Given the description of an element on the screen output the (x, y) to click on. 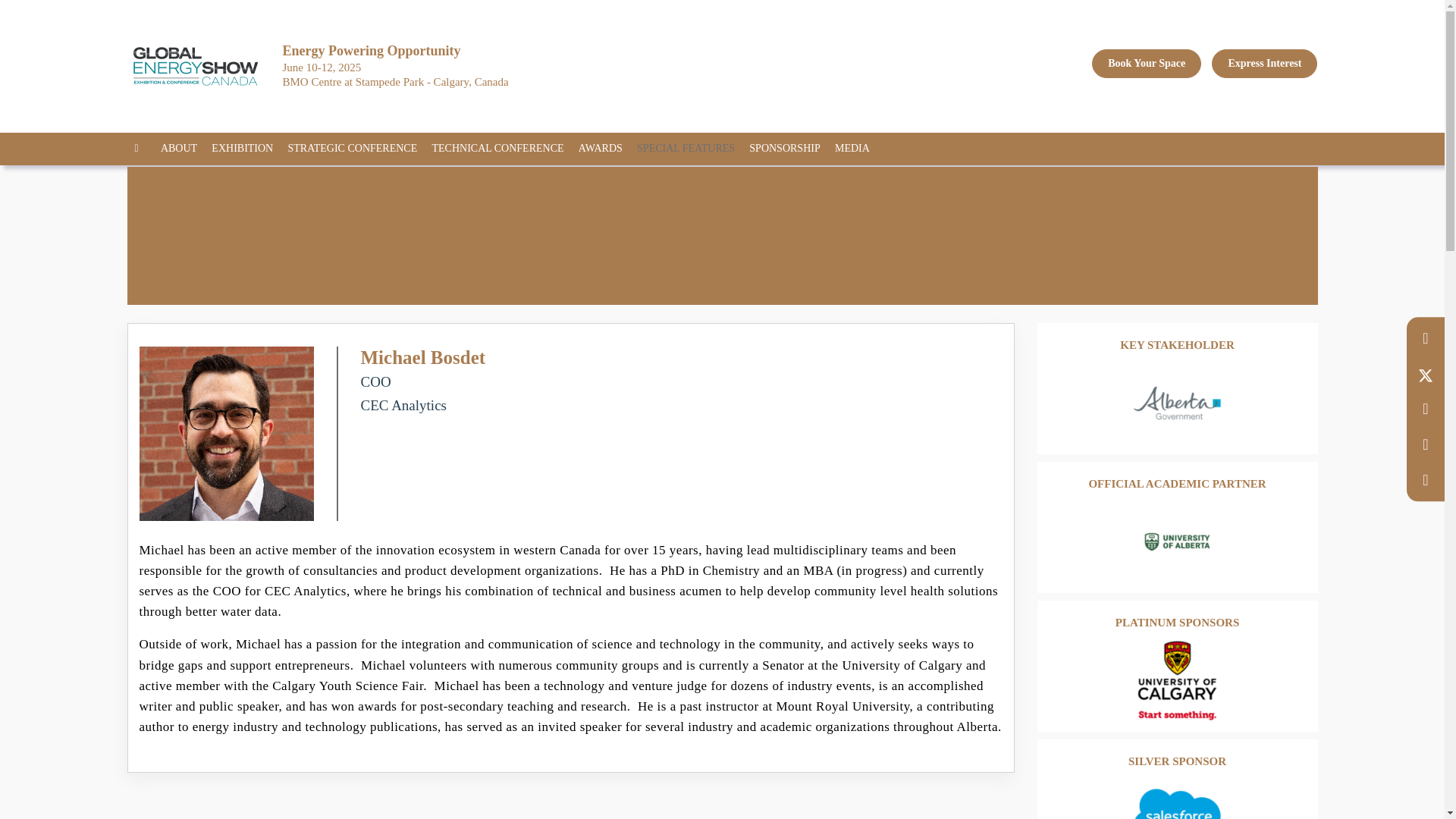
EXHIBITION (247, 148)
STRATEGIC CONFERENCE (357, 148)
ABOUT (184, 148)
SPECIAL FEATURES (691, 148)
AWARDS (605, 148)
TECHNICAL CONFERENCE (502, 148)
Book Your Space (1146, 63)
Express Interest (1264, 63)
